Given the description of an element on the screen output the (x, y) to click on. 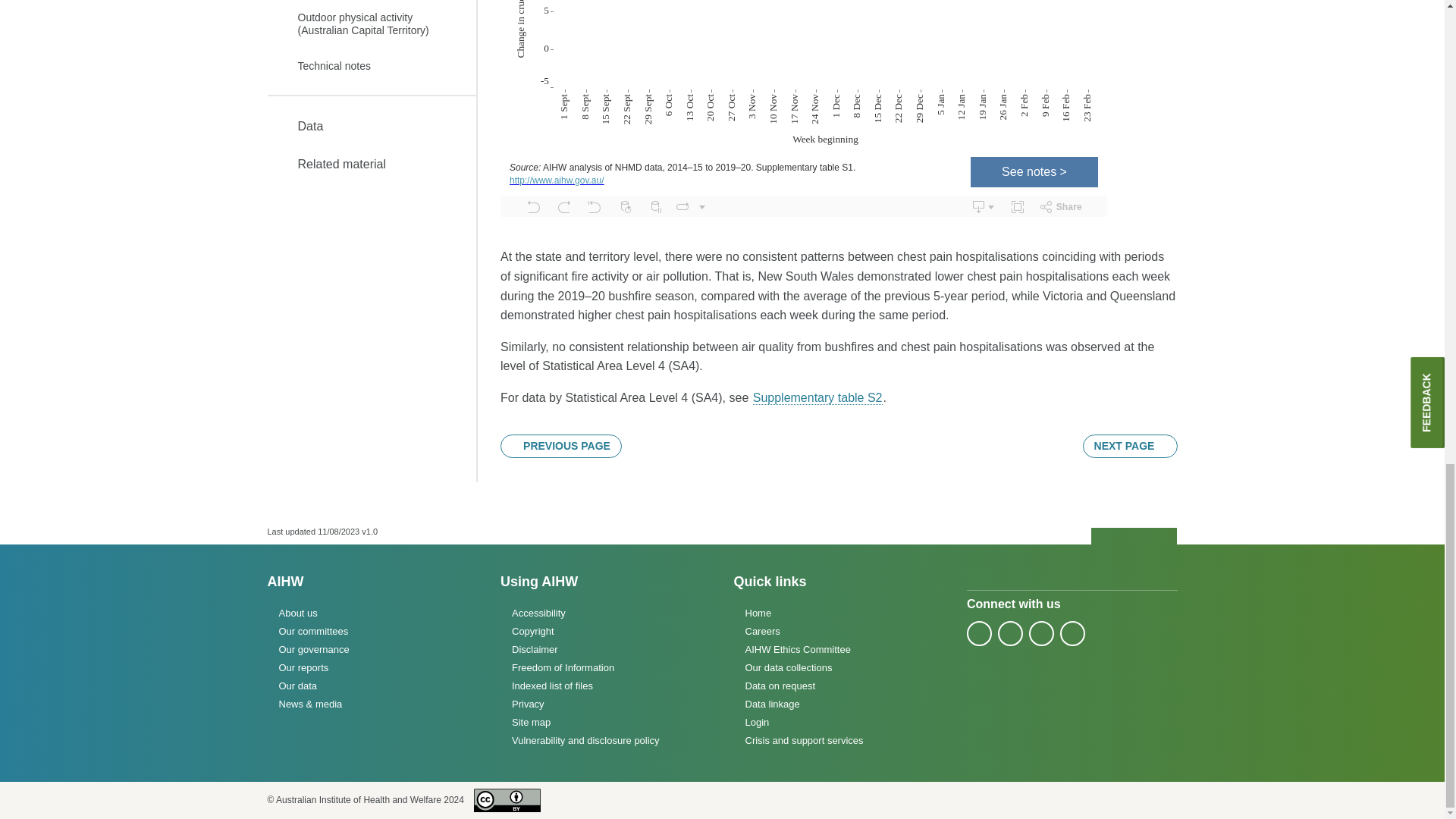
Back to top (1133, 537)
Data Visualization (803, 108)
